Given the description of an element on the screen output the (x, y) to click on. 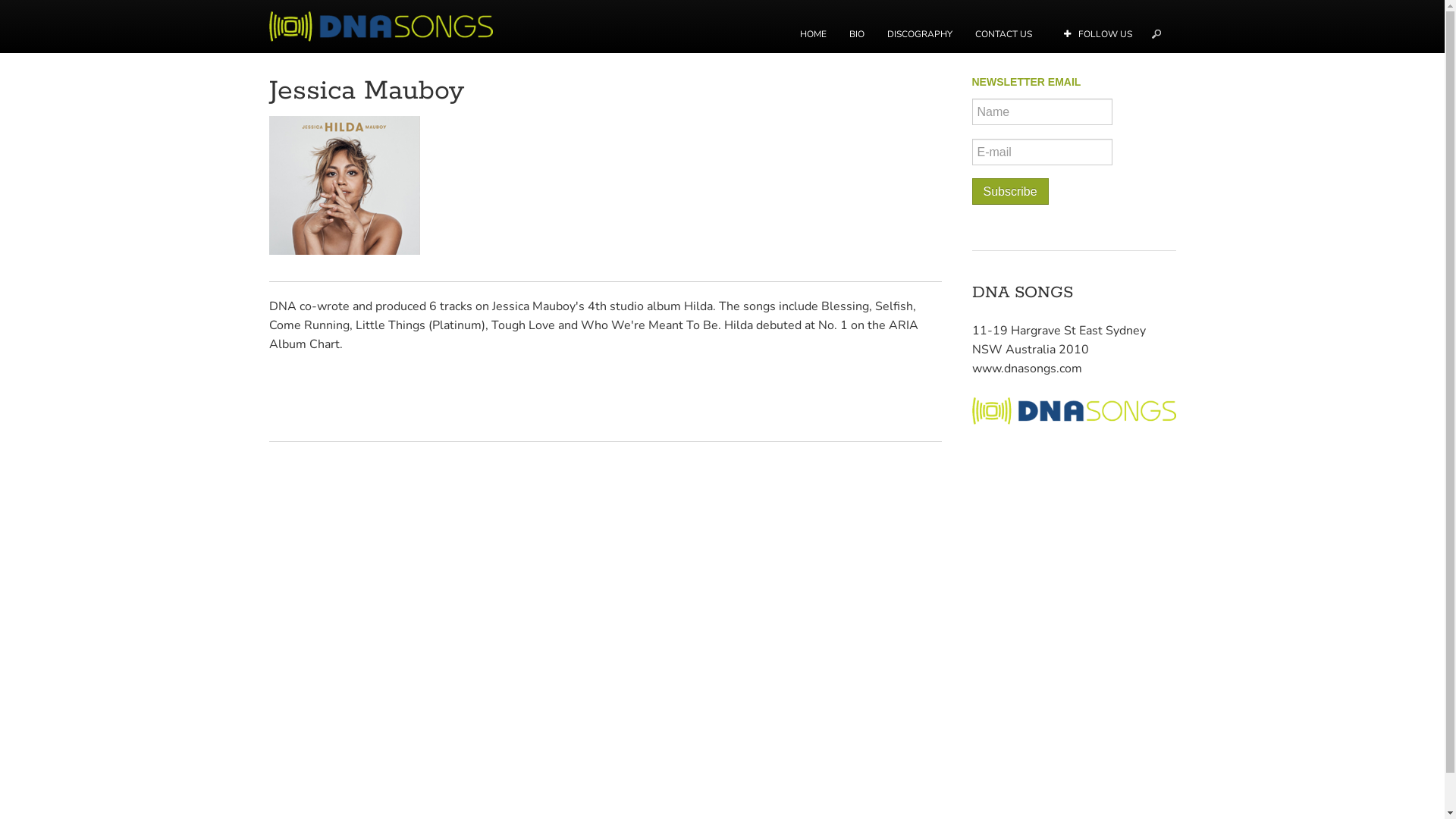
Jessica Mauboy Element type: text (365, 90)
Subscribe Element type: text (1010, 191)
FOLLOW US Element type: text (1097, 26)
BIO Element type: text (856, 26)
E-mail Element type: hover (1042, 151)
DNA SONGS Element type: hover (387, 25)
CONTACT US Element type: text (1002, 26)
HOME Element type: text (812, 26)
Name Element type: hover (1042, 111)
DISCOGRAPHY Element type: text (919, 26)
